Given the description of an element on the screen output the (x, y) to click on. 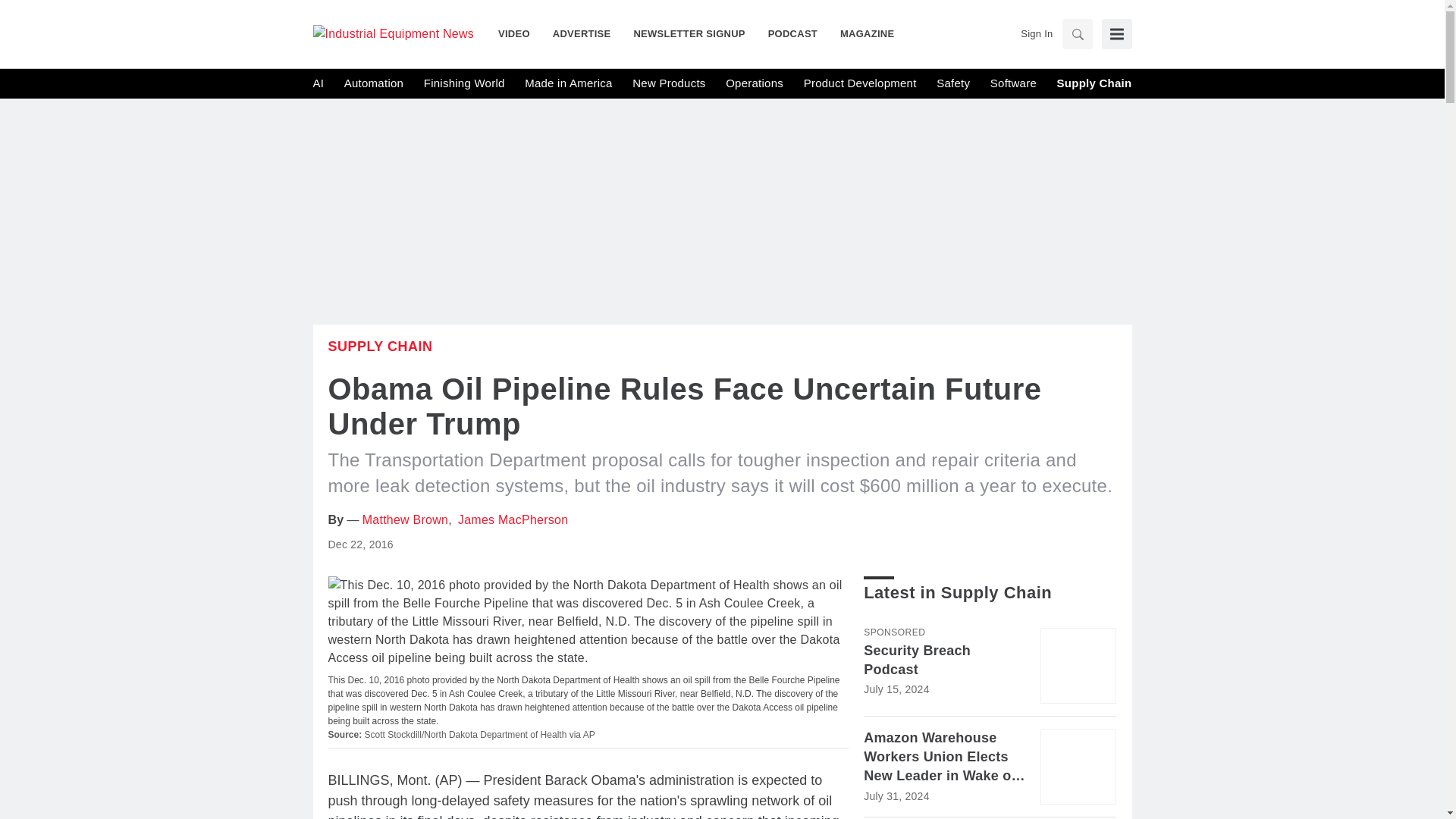
Sponsored (893, 632)
Automation (373, 83)
New Products (667, 83)
MAGAZINE (860, 33)
Product Development (860, 83)
Made in America (567, 83)
Operations (754, 83)
ADVERTISE (582, 33)
Supply Chain (379, 346)
Software (1013, 83)
Sign In (1036, 33)
PODCAST (792, 33)
Safety (952, 83)
NEWSLETTER SIGNUP (688, 33)
Finishing World (464, 83)
